Given the description of an element on the screen output the (x, y) to click on. 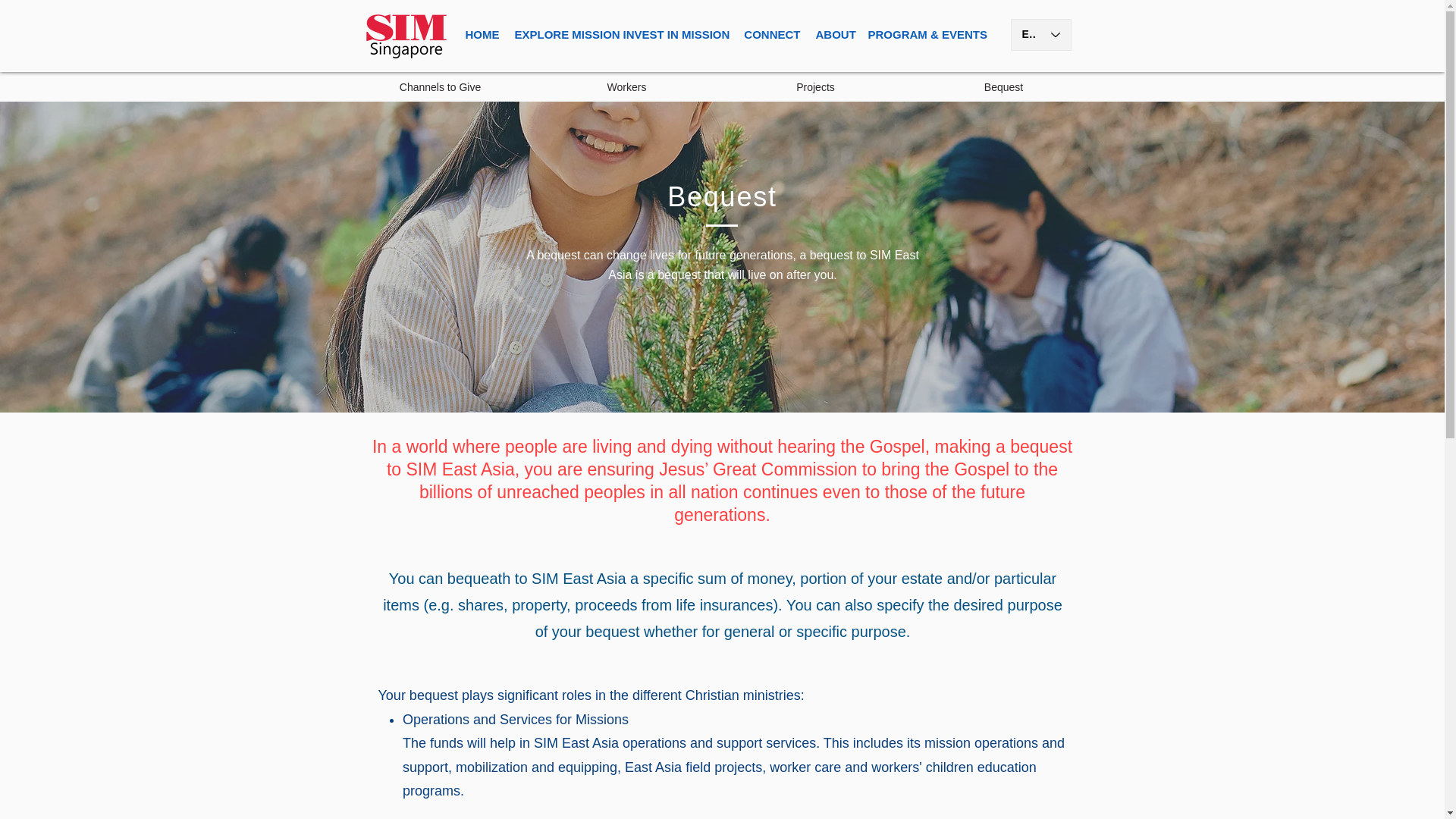
CONNECT (770, 34)
HOME (481, 34)
INVEST IN MISSION (674, 34)
Workers (627, 86)
Channels to Give (441, 86)
Bequest (1003, 86)
Projects (815, 86)
EXPLORE MISSION (560, 34)
ABOUT (834, 34)
